Given the description of an element on the screen output the (x, y) to click on. 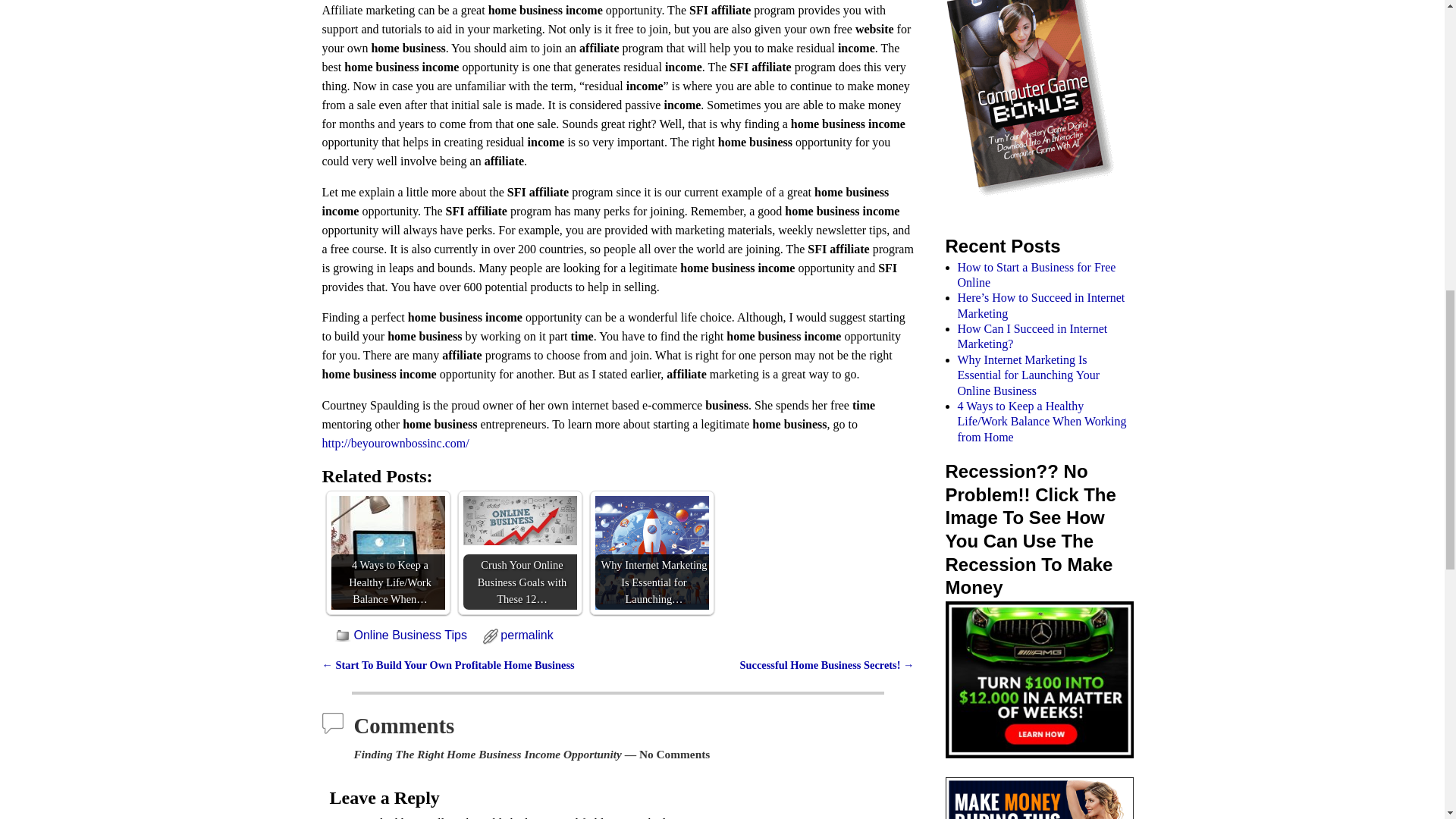
permalink (526, 634)
Online Business Tips (409, 634)
